Given the description of an element on the screen output the (x, y) to click on. 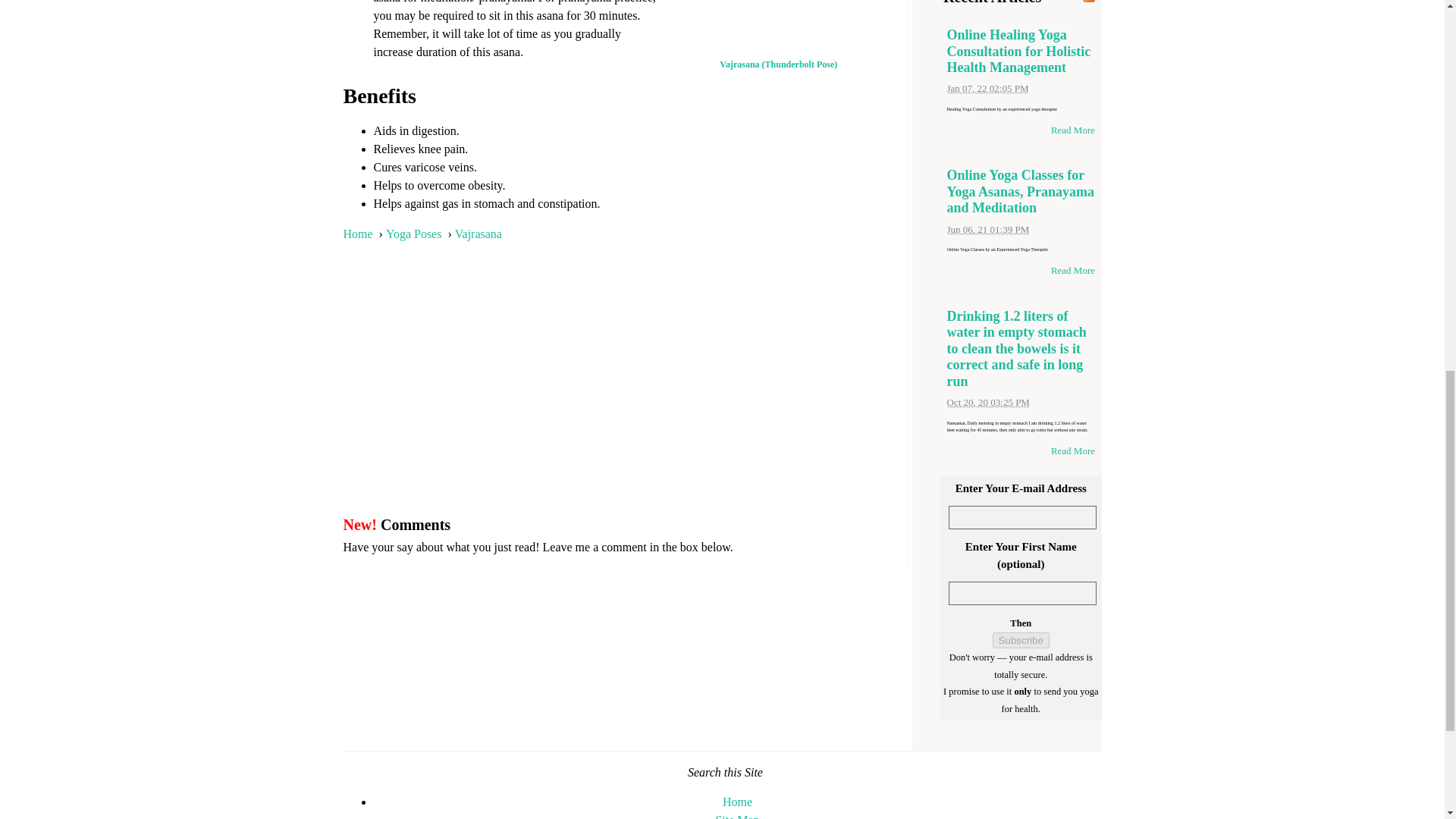
2022-01-07T14:05:56-0500 (986, 88)
Subscribe (1020, 640)
Vajrasana (478, 233)
Home (357, 233)
Read More (1072, 129)
Read More (1072, 270)
2020-10-20T15:25:51-0400 (987, 401)
Home (737, 801)
